Given the description of an element on the screen output the (x, y) to click on. 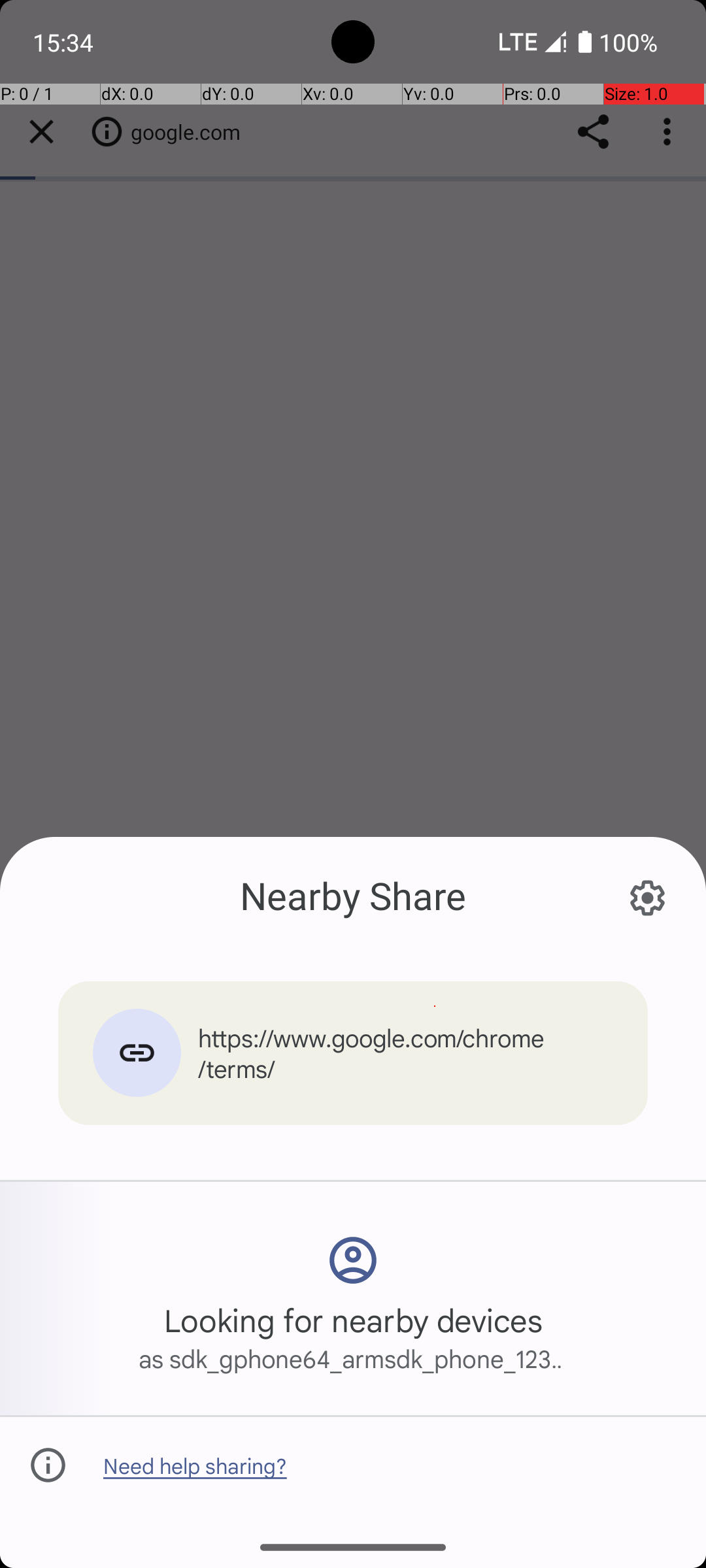
Nearby Share Element type: android.widget.TextView (353, 894)
Need help sharing? Element type: android.widget.TextView (194, 1464)
Looking for nearby devices Element type: android.widget.TextView (353, 1319)
as sdk_gphone64_armsdk_phone_123464 Element type: android.widget.TextView (352, 1358)
